Given the description of an element on the screen output the (x, y) to click on. 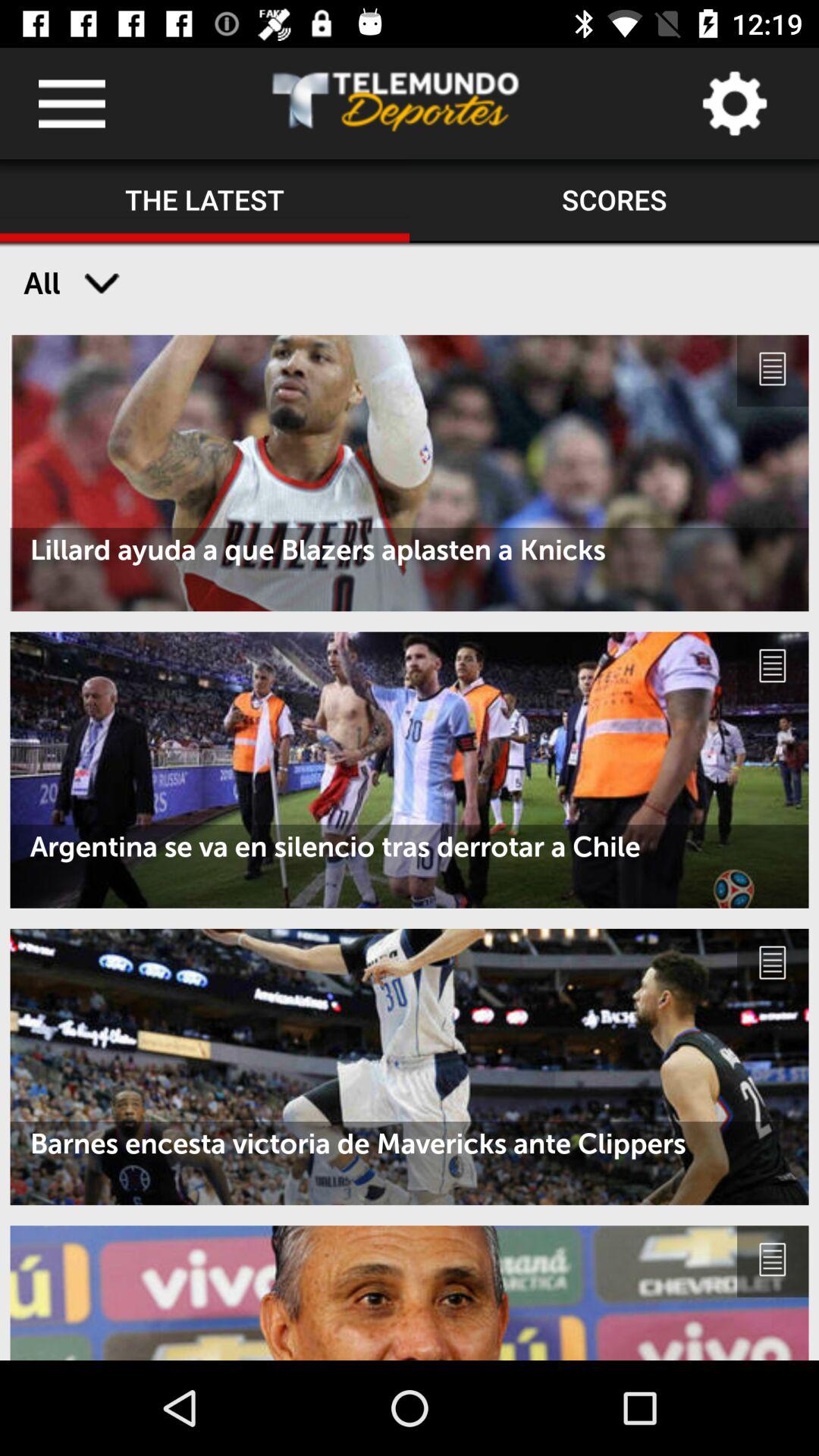
choose the scores item (614, 200)
